Given the description of an element on the screen output the (x, y) to click on. 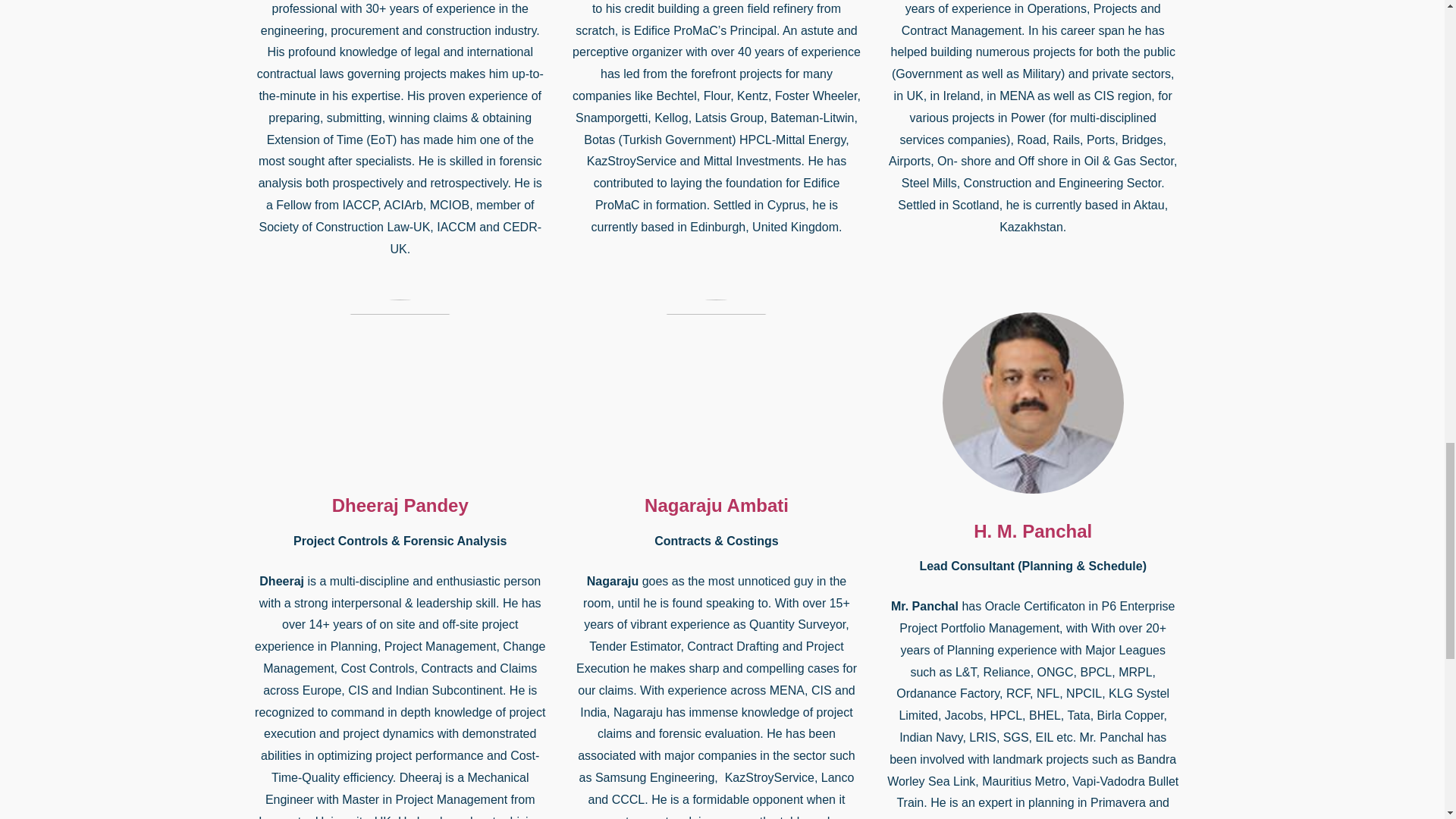
Dheeraj Pandey (399, 505)
H. M. Panchal (1033, 530)
Nagaraju Ambati (717, 505)
